Given the description of an element on the screen output the (x, y) to click on. 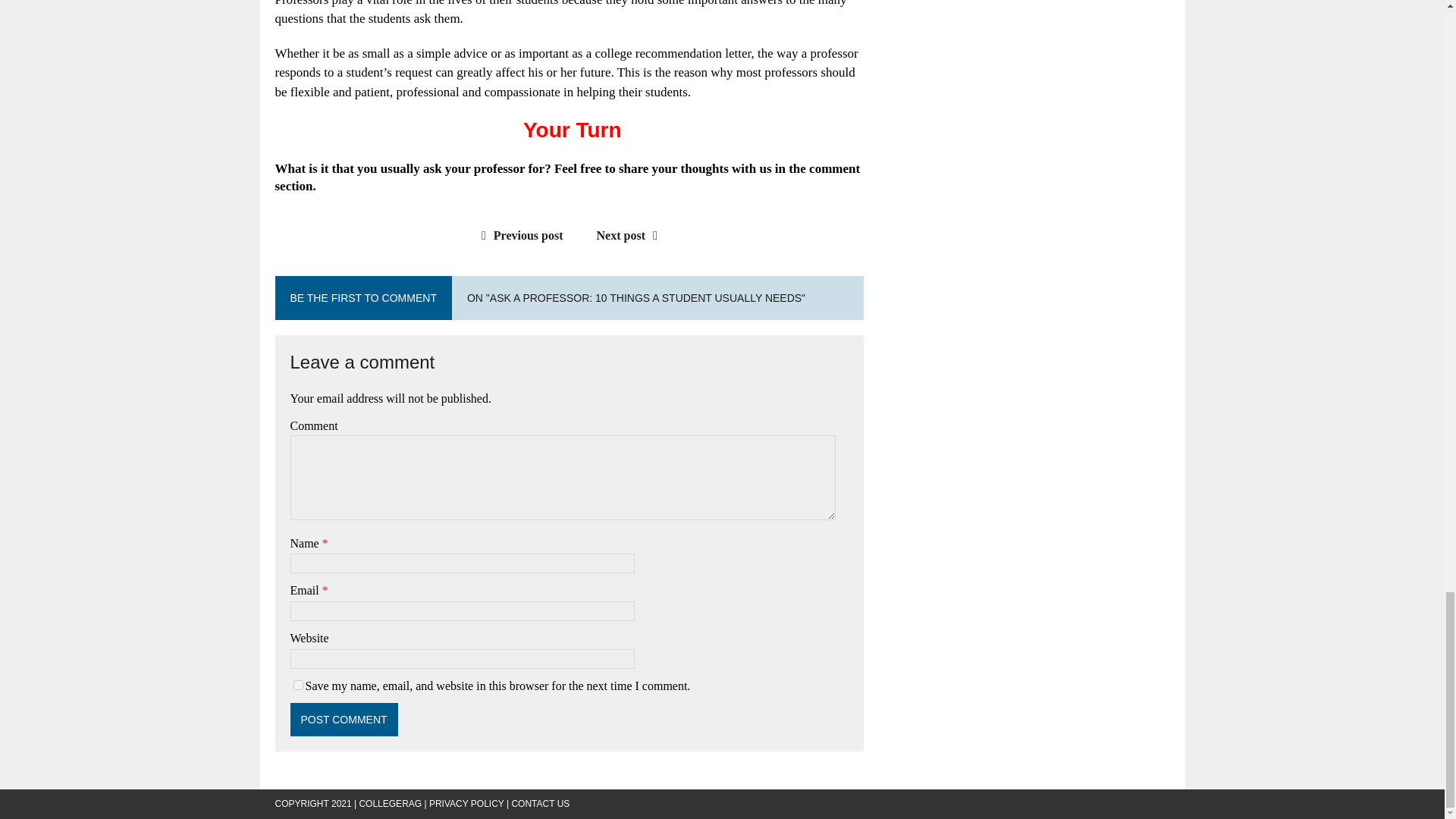
Next post (630, 235)
Previous post (518, 235)
CONTACT US (540, 803)
Post Comment (343, 719)
PRIVACY POLICY (466, 803)
yes (297, 685)
Post Comment (343, 719)
